Given the description of an element on the screen output the (x, y) to click on. 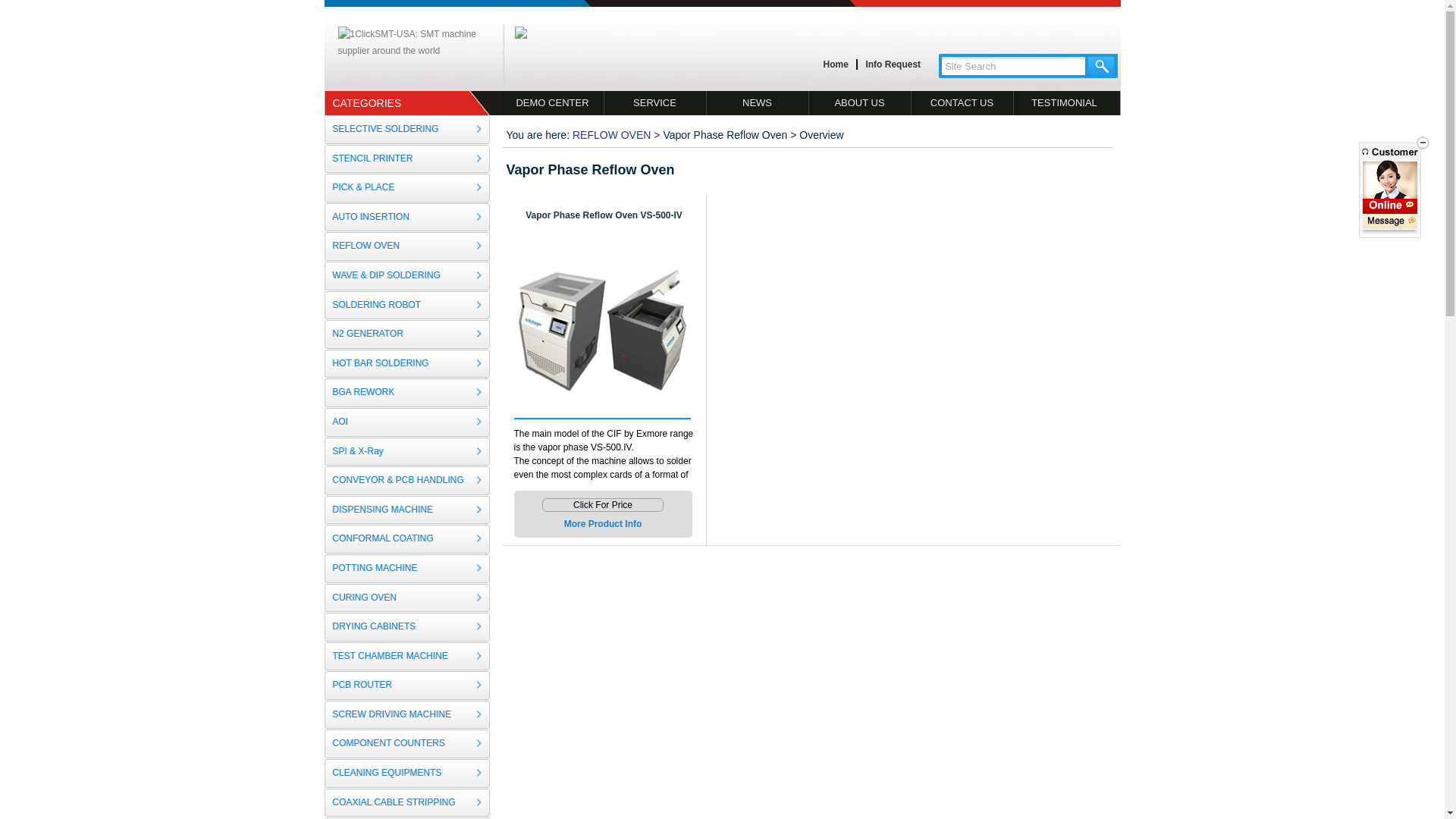
WAVE & DIP SOLDERING Element type: text (406, 275)
customer service Element type: hover (1389, 205)
ABOUT US Element type: text (859, 103)
NEWS Element type: text (757, 103)
DISPENSING MACHINE Element type: text (406, 509)
CONTACT US Element type: text (962, 103)
CONVEYOR & PCB HANDLING Element type: text (406, 480)
POTTING MACHINE Element type: text (406, 568)
customer service Element type: hover (1389, 221)
STENCIL PRINTER Element type: text (406, 158)
SPI & X-Ray Element type: text (406, 451)
COAXIAL CABLE STRIPPING Element type: text (406, 802)
BGA REWORK Element type: text (406, 392)
HOT BAR SOLDERING Element type: text (406, 363)
TESTIMONIAL Element type: text (1063, 103)
DEMO CENTER Element type: text (553, 103)
SOLDERING ROBOT Element type: text (406, 305)
CLEANING EQUIPMENTS Element type: text (406, 773)
AUTO INSERTION Element type: text (406, 217)
PCB ROUTER Element type: text (406, 685)
DRYING CABINETS Element type: text (406, 626)
CONFORMAL COATING Element type: text (406, 538)
COMPONENT COUNTERS Element type: text (406, 743)
SERVICE Element type: text (654, 103)
N2 GENERATOR Element type: text (406, 334)
REFLOW OVEN Element type: text (611, 134)
Info Request Element type: text (892, 64)
More Product Info Element type: text (603, 523)
SELECTIVE SOLDERING Element type: text (406, 129)
SCREW DRIVING MACHINE Element type: text (406, 714)
CURING OVEN Element type: text (406, 597)
REFLOW OVEN Element type: text (406, 246)
TEST CHAMBER MACHINE Element type: text (406, 656)
Click For Price Element type: text (602, 504)
Home Element type: text (835, 64)
AOI Element type: text (406, 421)
Vapor Phase Reflow Oven VS-500-IV Element type: text (603, 215)
PICK & PLACE Element type: text (406, 187)
